Given the description of an element on the screen output the (x, y) to click on. 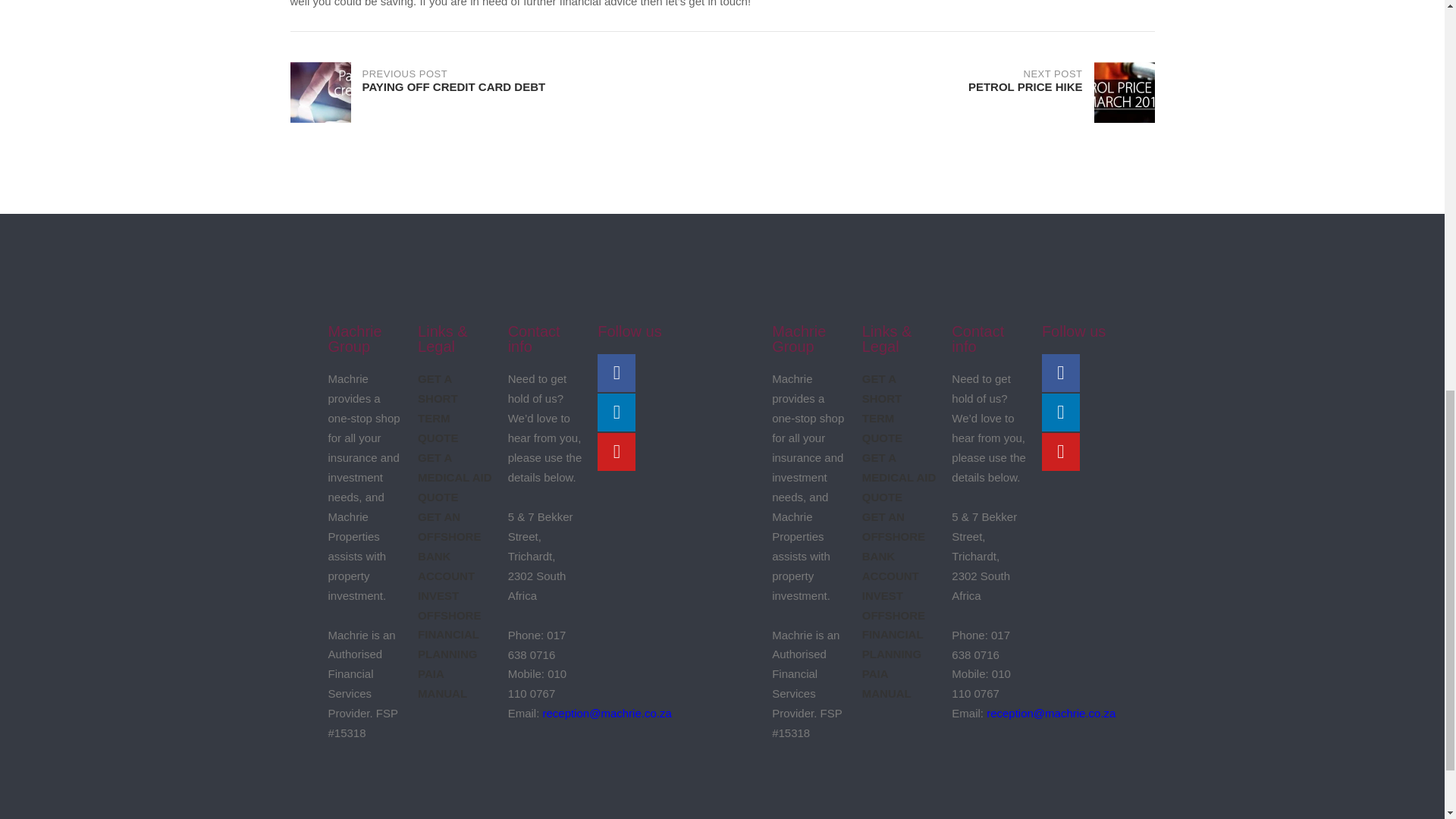
PAIA MANUAL (505, 92)
FINANCIAL PLANNING (442, 683)
GET A MEDICAL AID QUOTE (892, 644)
GET A MEDICAL AID QUOTE (898, 477)
FINANCIAL PLANNING (454, 477)
INVEST OFFSHORE (448, 644)
INVEST OFFSHORE (448, 604)
PAIA MANUAL (892, 604)
